Given the description of an element on the screen output the (x, y) to click on. 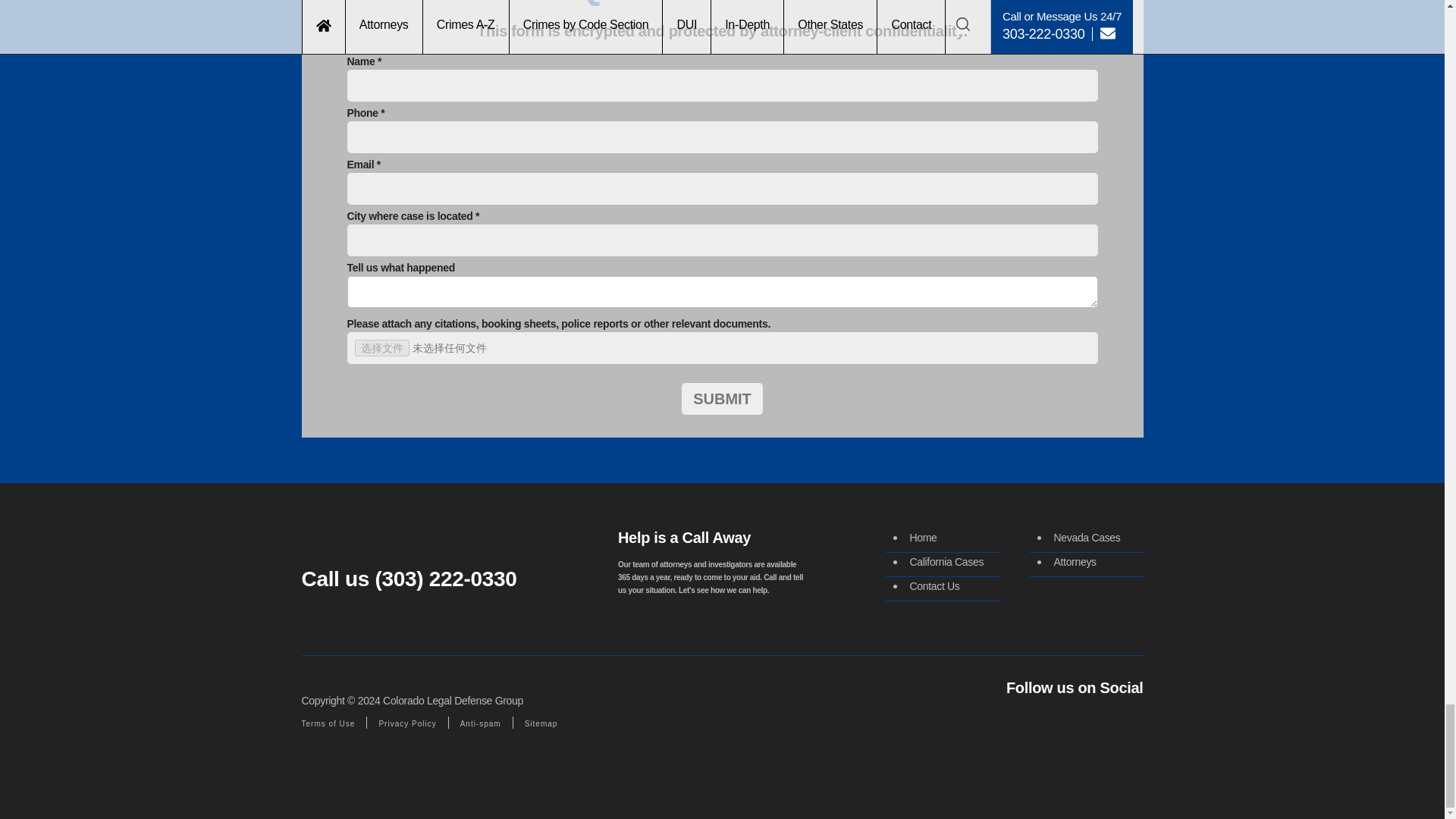
Submit (721, 398)
